Given the description of an element on the screen output the (x, y) to click on. 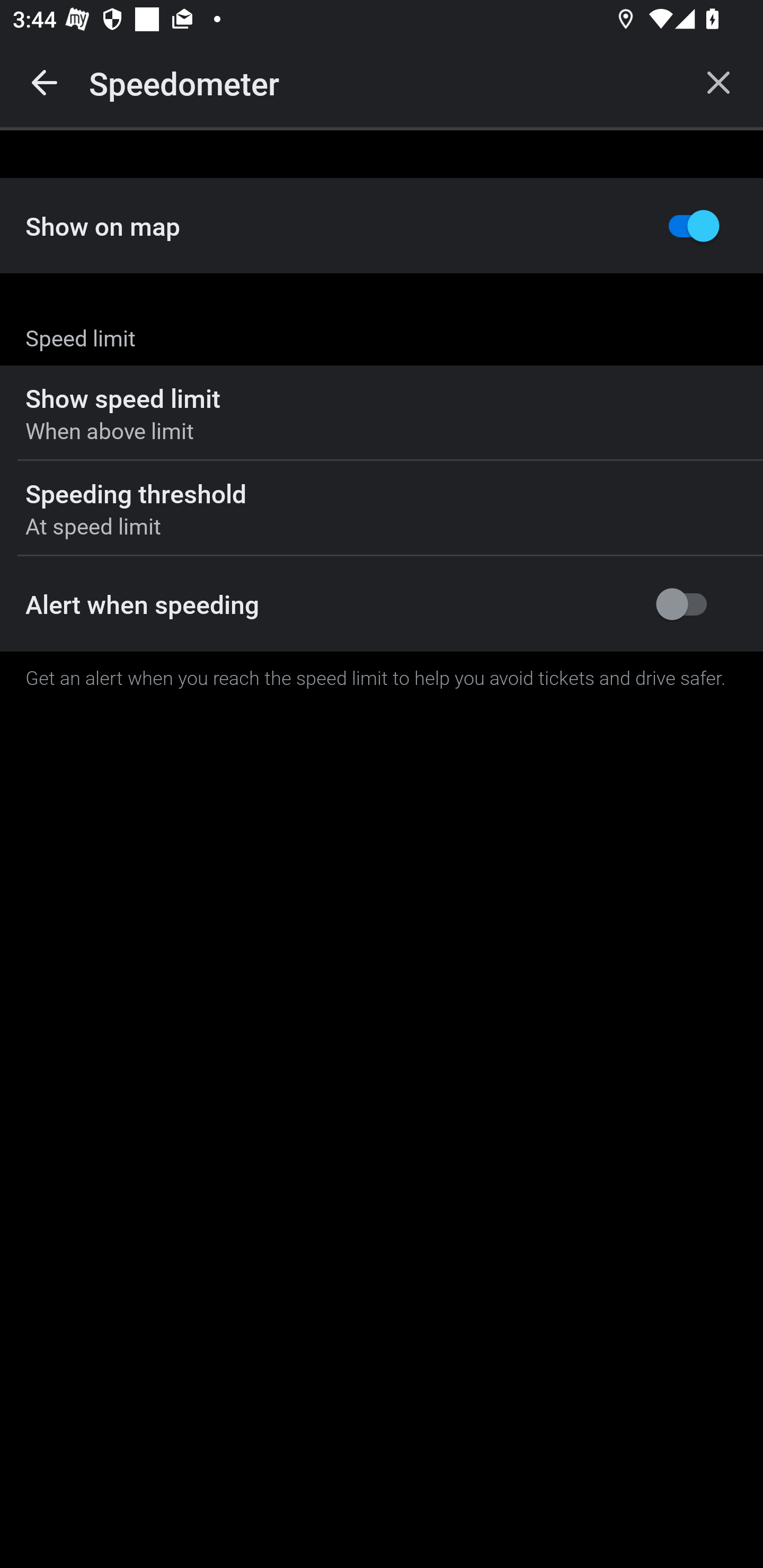
Show on map (381, 225)
Show speed limit When above limit (381, 412)
Speeding threshold At speed limit (381, 508)
Alert when speeding (381, 604)
